Given the description of an element on the screen output the (x, y) to click on. 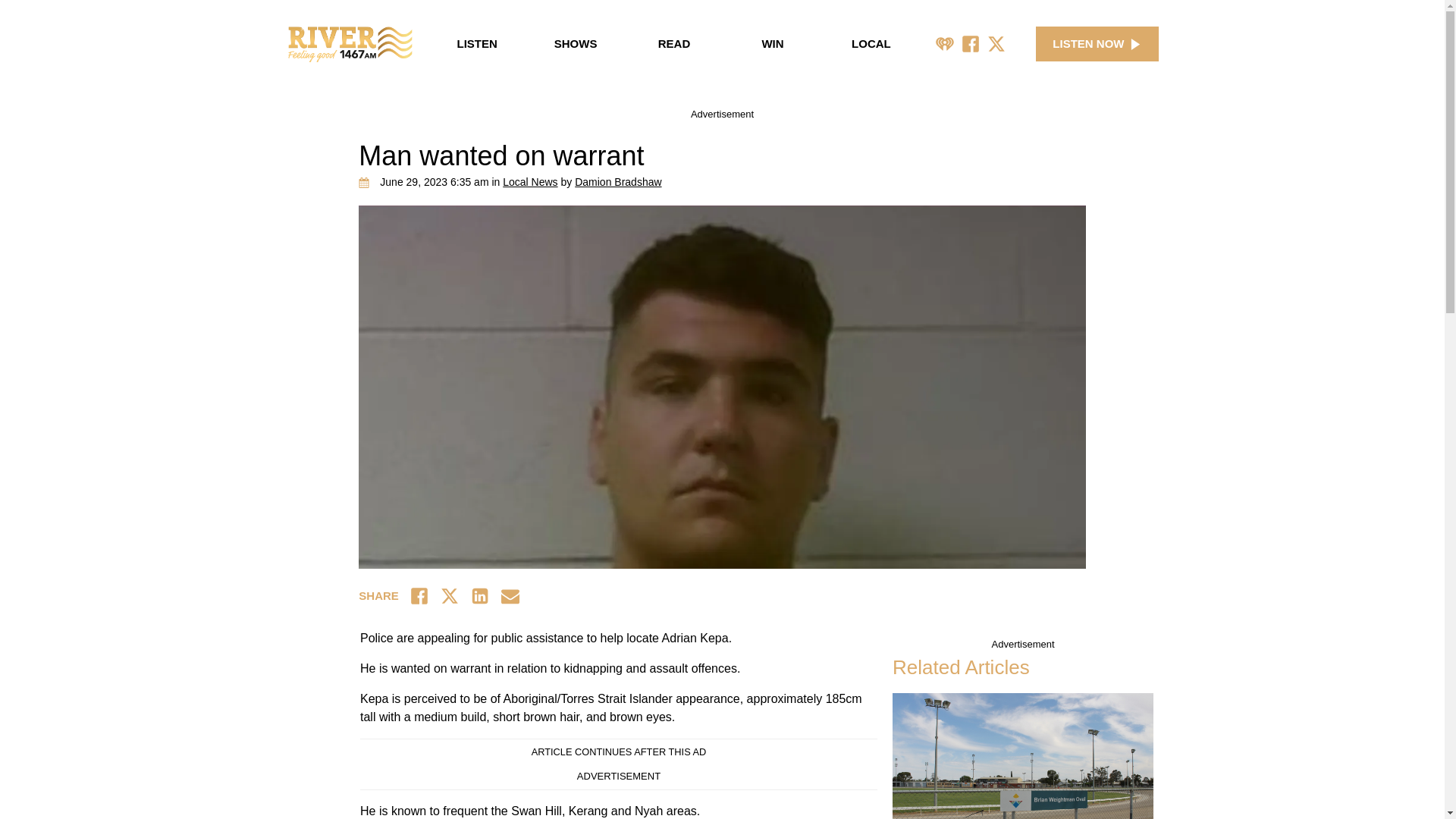
READ (673, 43)
iHeart (944, 44)
Posts by Damion Bradshaw (618, 182)
LISTEN (476, 43)
LOCAL (871, 43)
LISTEN NOW (1096, 44)
WIN (772, 43)
Facebook (969, 44)
SHOWS (574, 43)
